Given the description of an element on the screen output the (x, y) to click on. 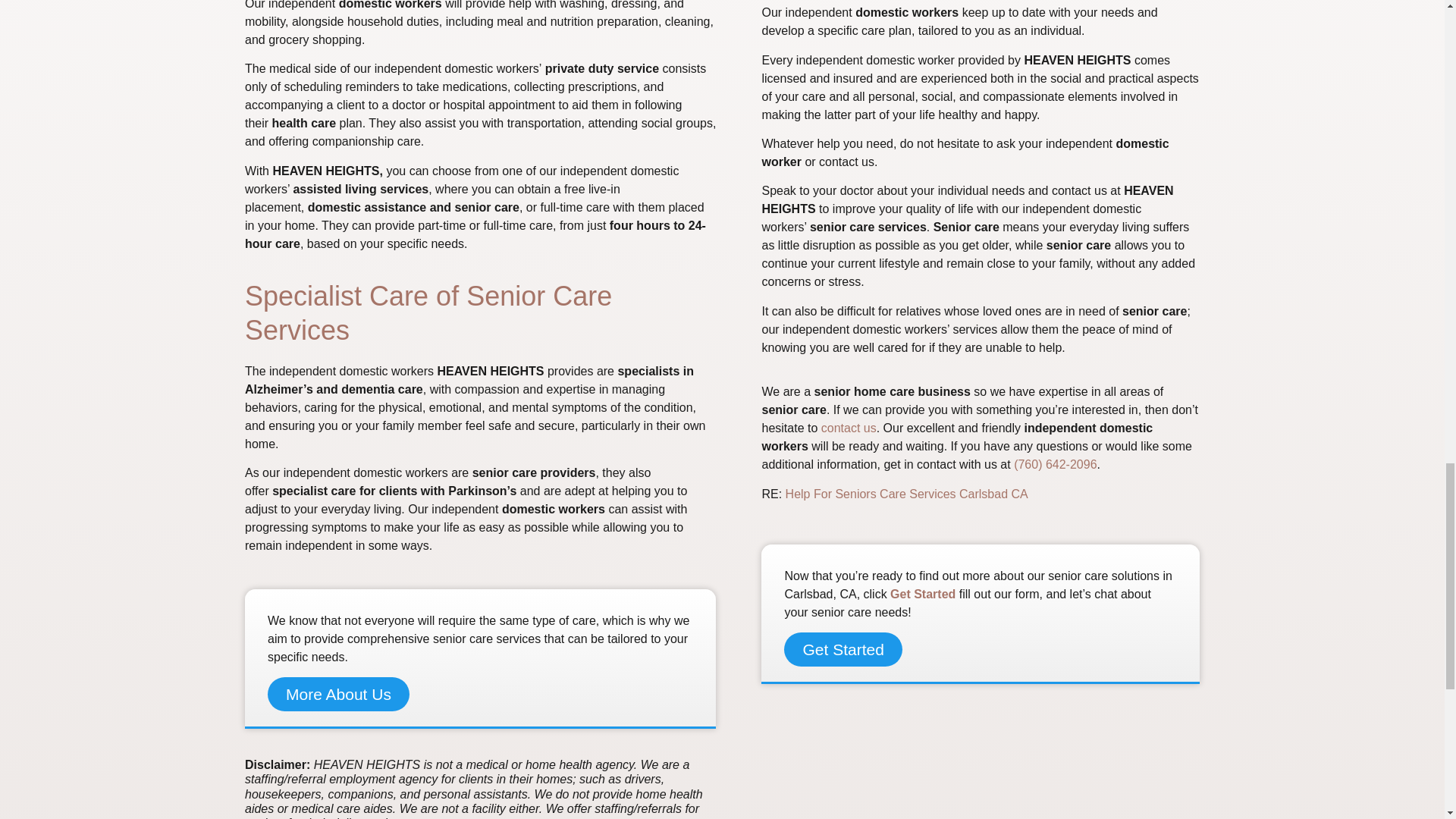
contact us (848, 427)
More About Us (338, 694)
Get Started (842, 649)
Help For Seniors Carlsbad CA (906, 493)
Help For Seniors Care Services Carlsbad CA (906, 493)
Get Started (922, 594)
